Given the description of an element on the screen output the (x, y) to click on. 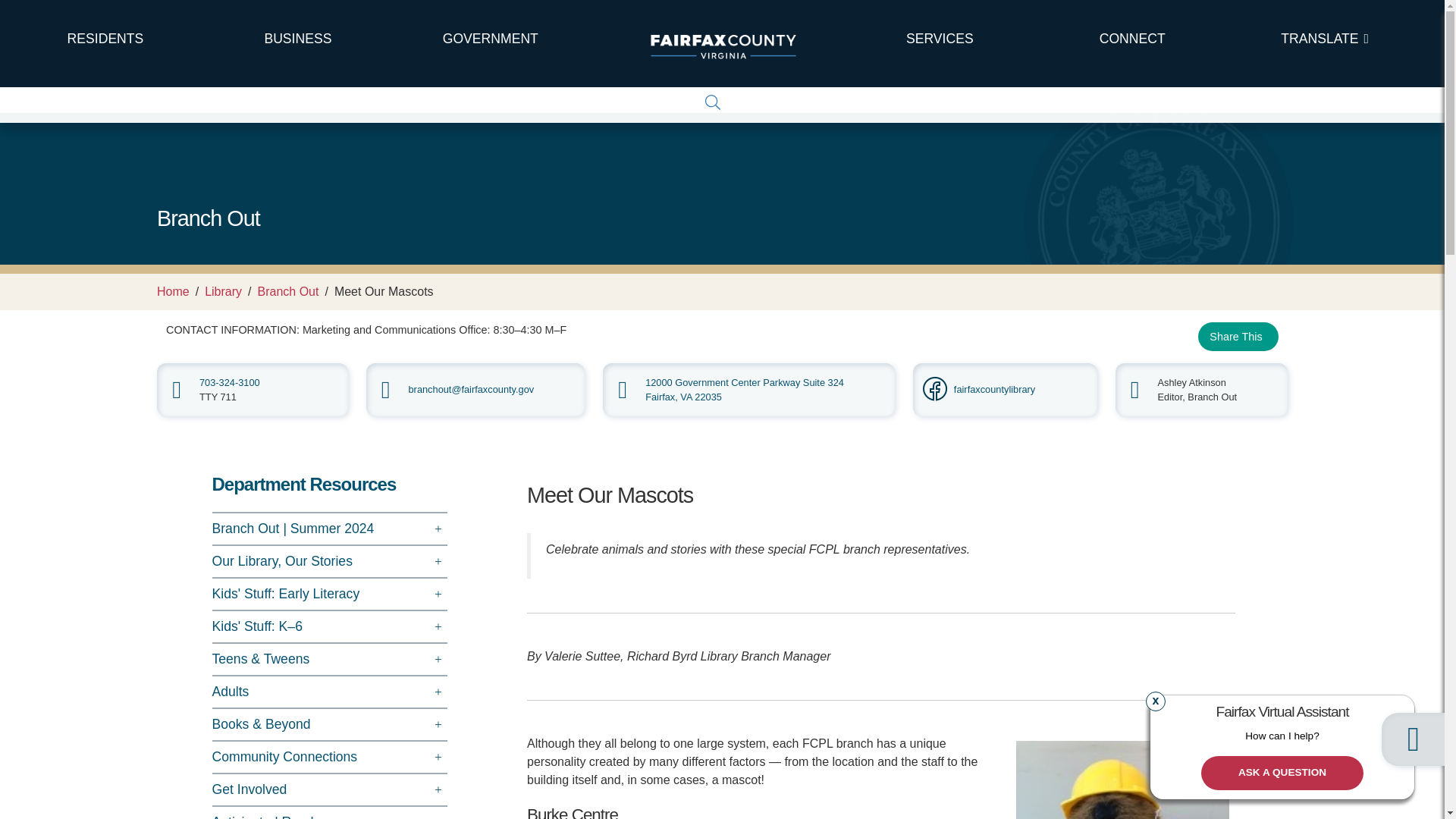
Government (490, 38)
Business (298, 38)
TRANSLATE (1324, 38)
Connect (1131, 38)
Residents (105, 38)
Services (939, 38)
